Given the description of an element on the screen output the (x, y) to click on. 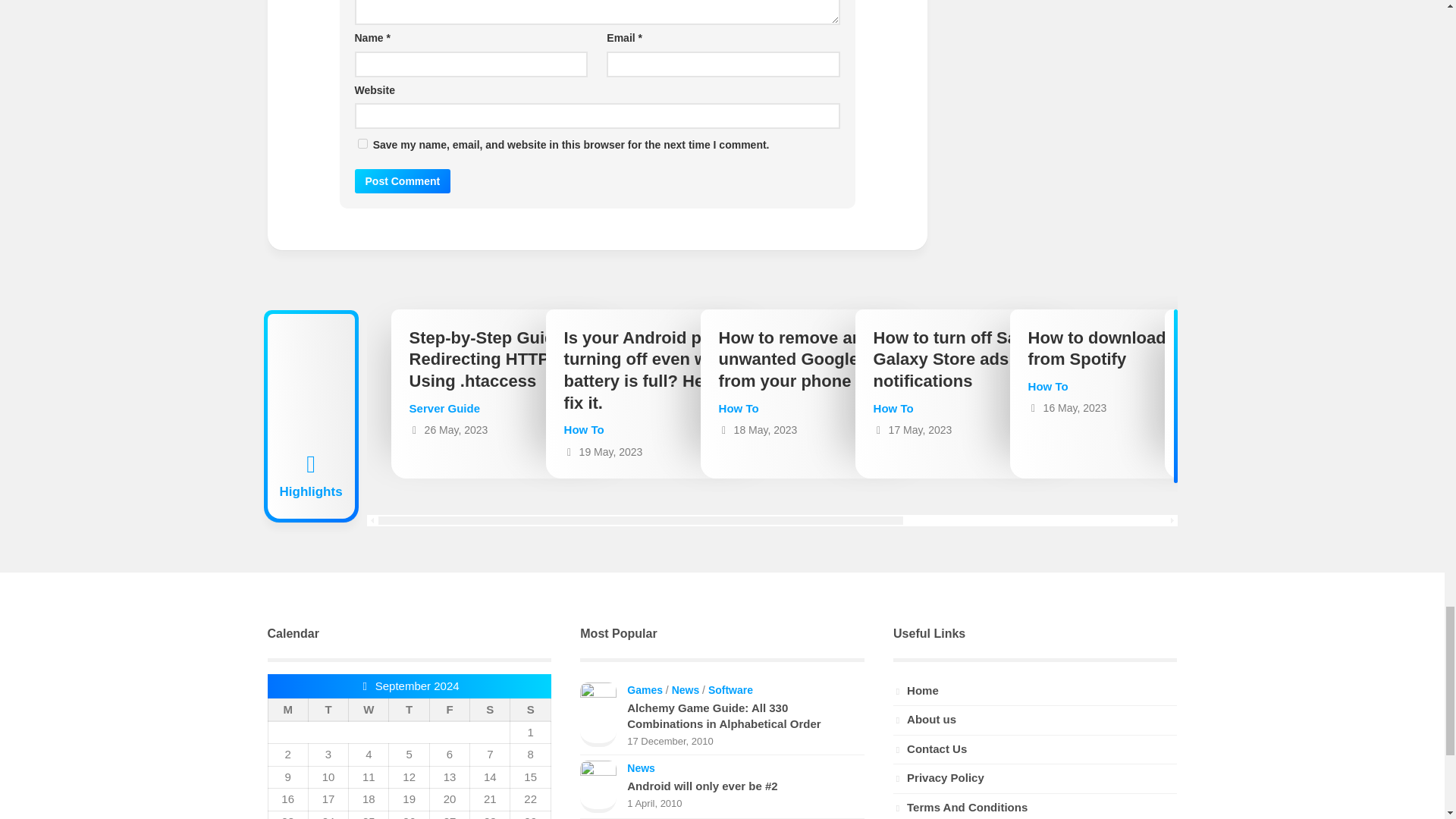
Monday (287, 710)
Friday (448, 710)
Wednesday (368, 710)
Thursday (408, 710)
yes (363, 143)
Tuesday (327, 710)
Sunday (530, 710)
Saturday (490, 710)
Post Comment (403, 180)
